Given the description of an element on the screen output the (x, y) to click on. 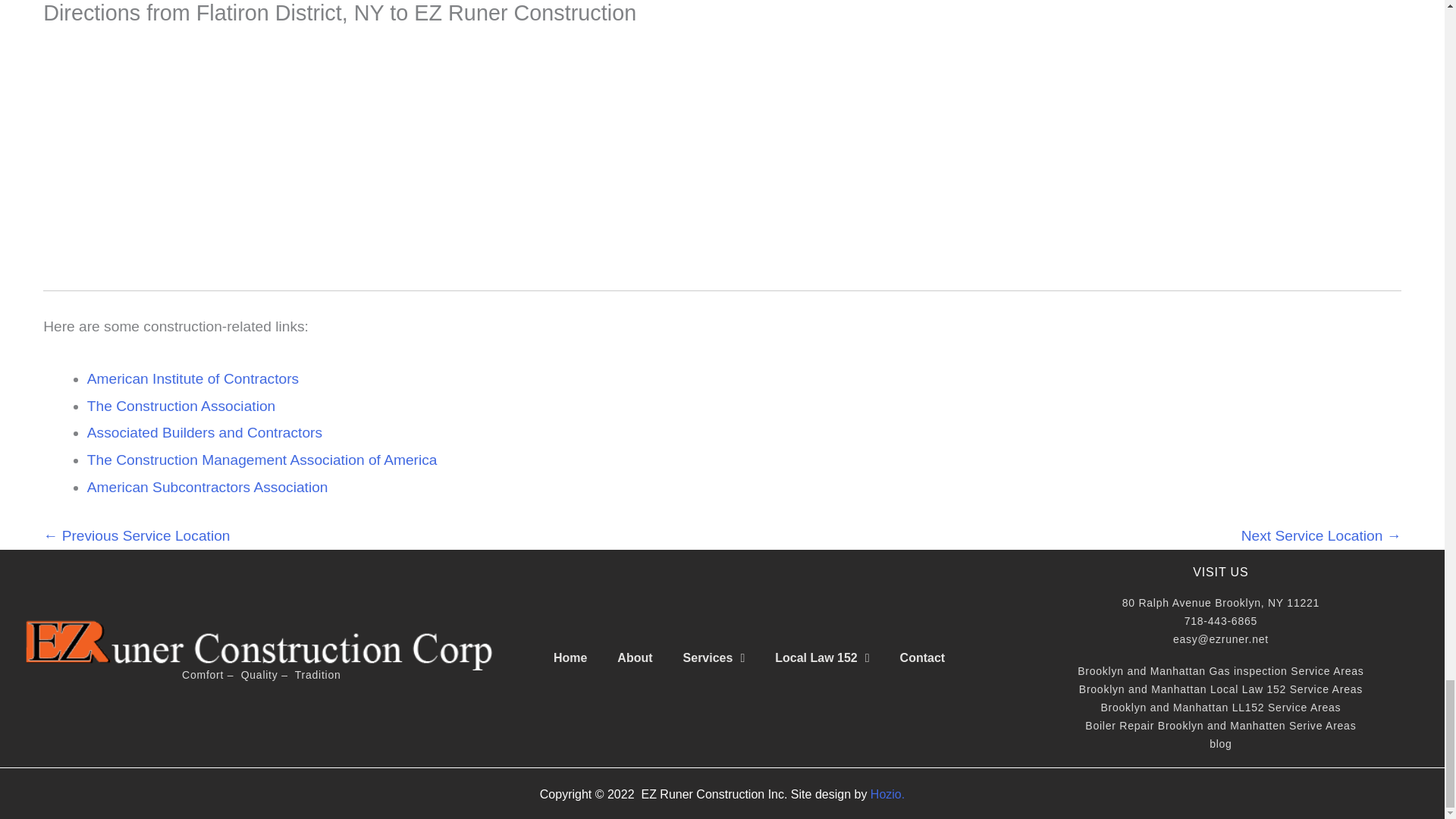
American Institute of Contractors (192, 378)
The Construction Association (181, 406)
Associated Builders and Contractors (204, 432)
The Construction Management Association of America (262, 459)
American Subcontractors Association (208, 487)
